Given the description of an element on the screen output the (x, y) to click on. 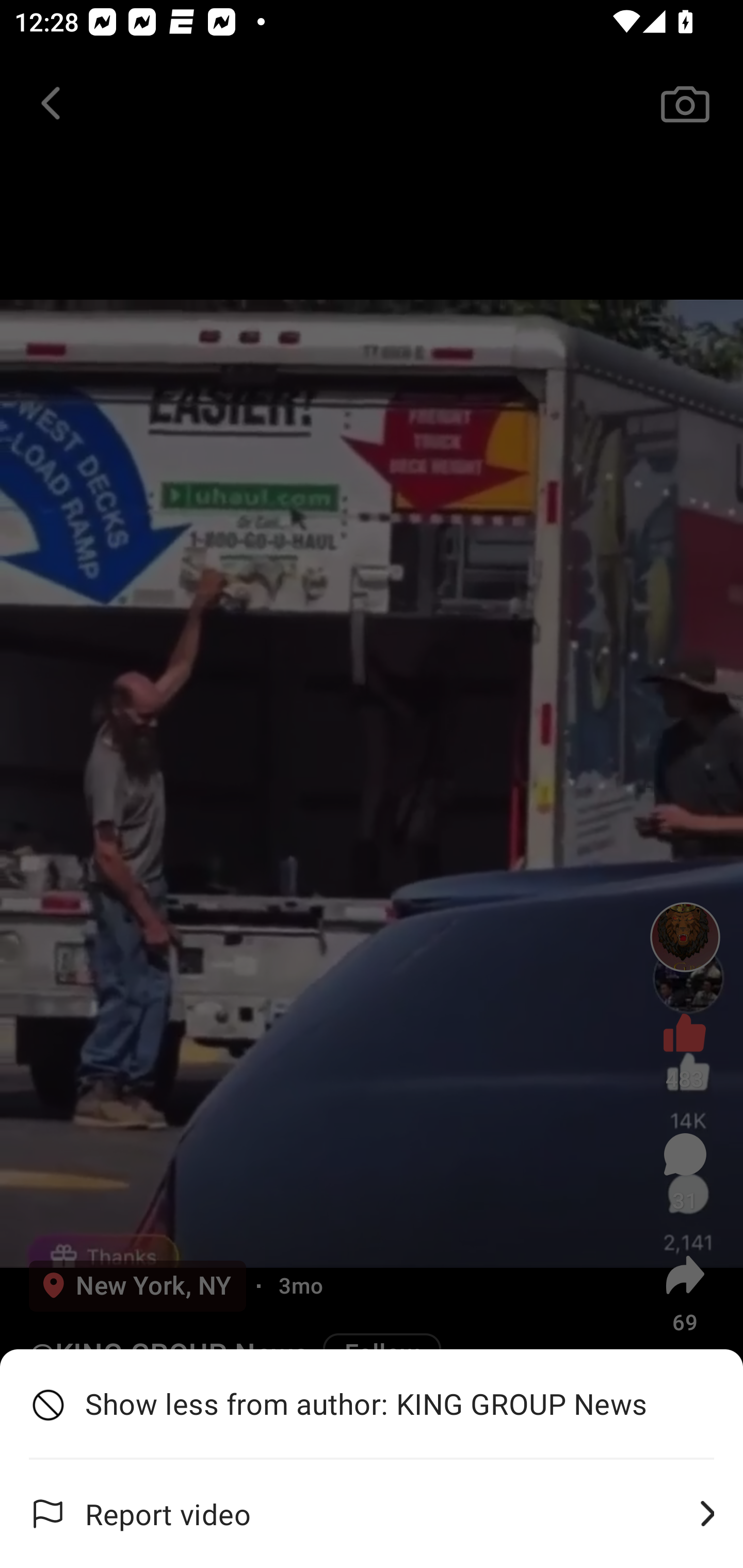
Show less from author: KING GROUP News (371, 1404)
Report video (371, 1513)
